Given the description of an element on the screen output the (x, y) to click on. 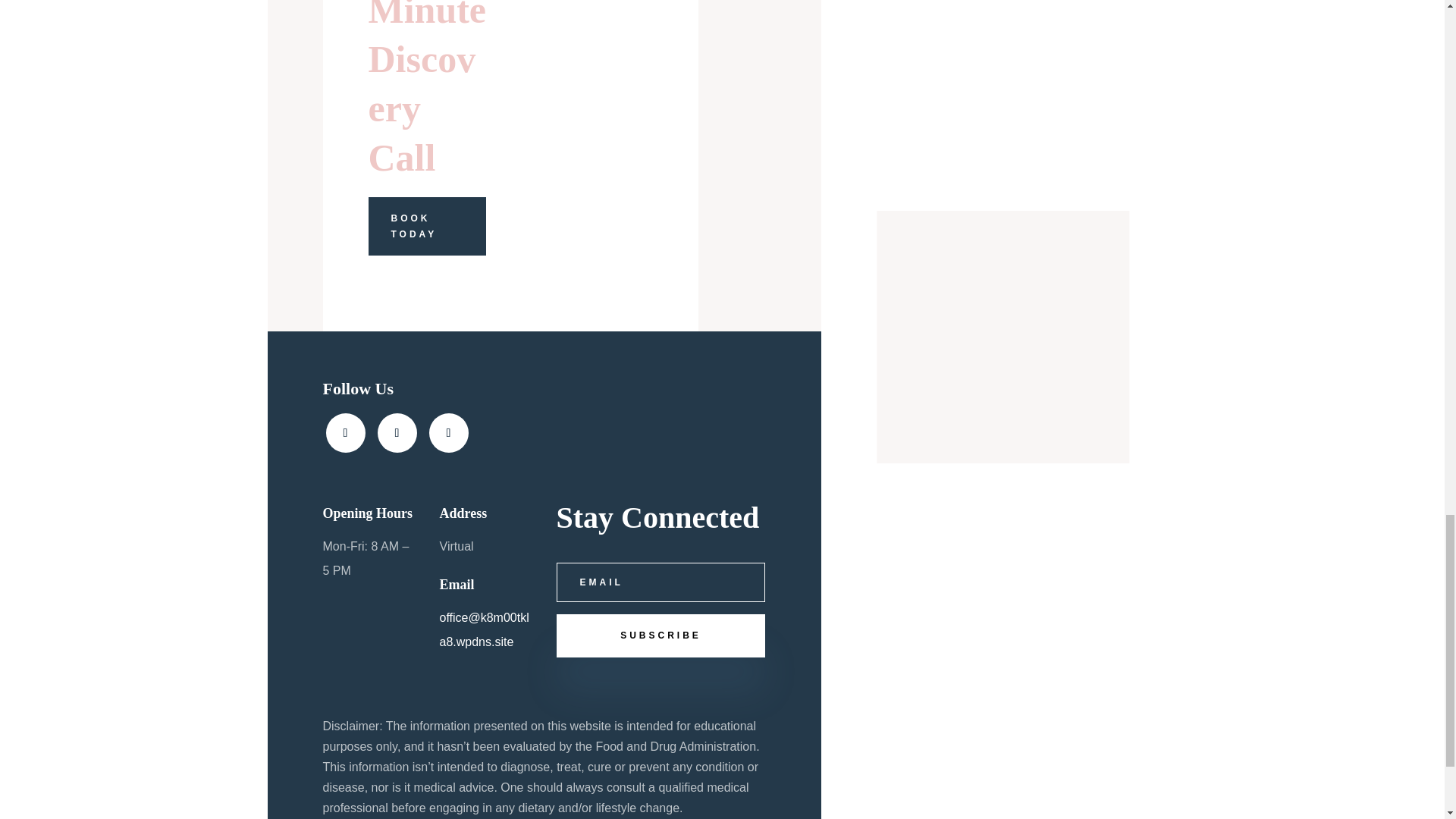
Follow on Instagram (396, 432)
BOOK TODAY (427, 226)
SUBSCRIBE (660, 635)
Follow on Facebook (345, 432)
Follow on Youtube (448, 432)
